Given the description of an element on the screen output the (x, y) to click on. 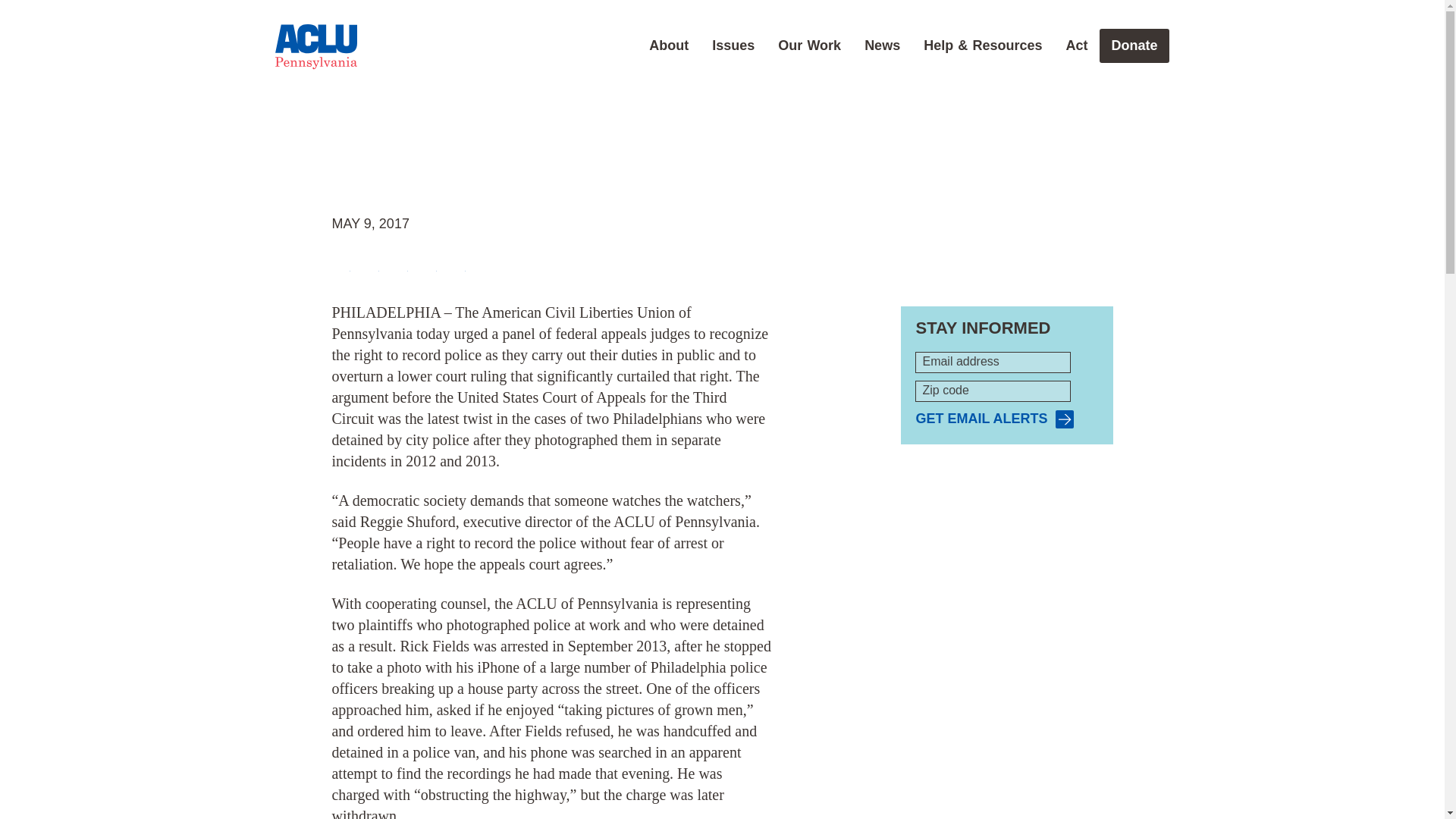
Zip code (992, 391)
Submit this to Twitter (369, 263)
ACLU Pennsylvania - logo (315, 46)
Submit this to Facebook (340, 263)
Email this page (427, 263)
Submit this to Reddit (398, 263)
Get email alerts (994, 419)
Email address (992, 362)
